Given the description of an element on the screen output the (x, y) to click on. 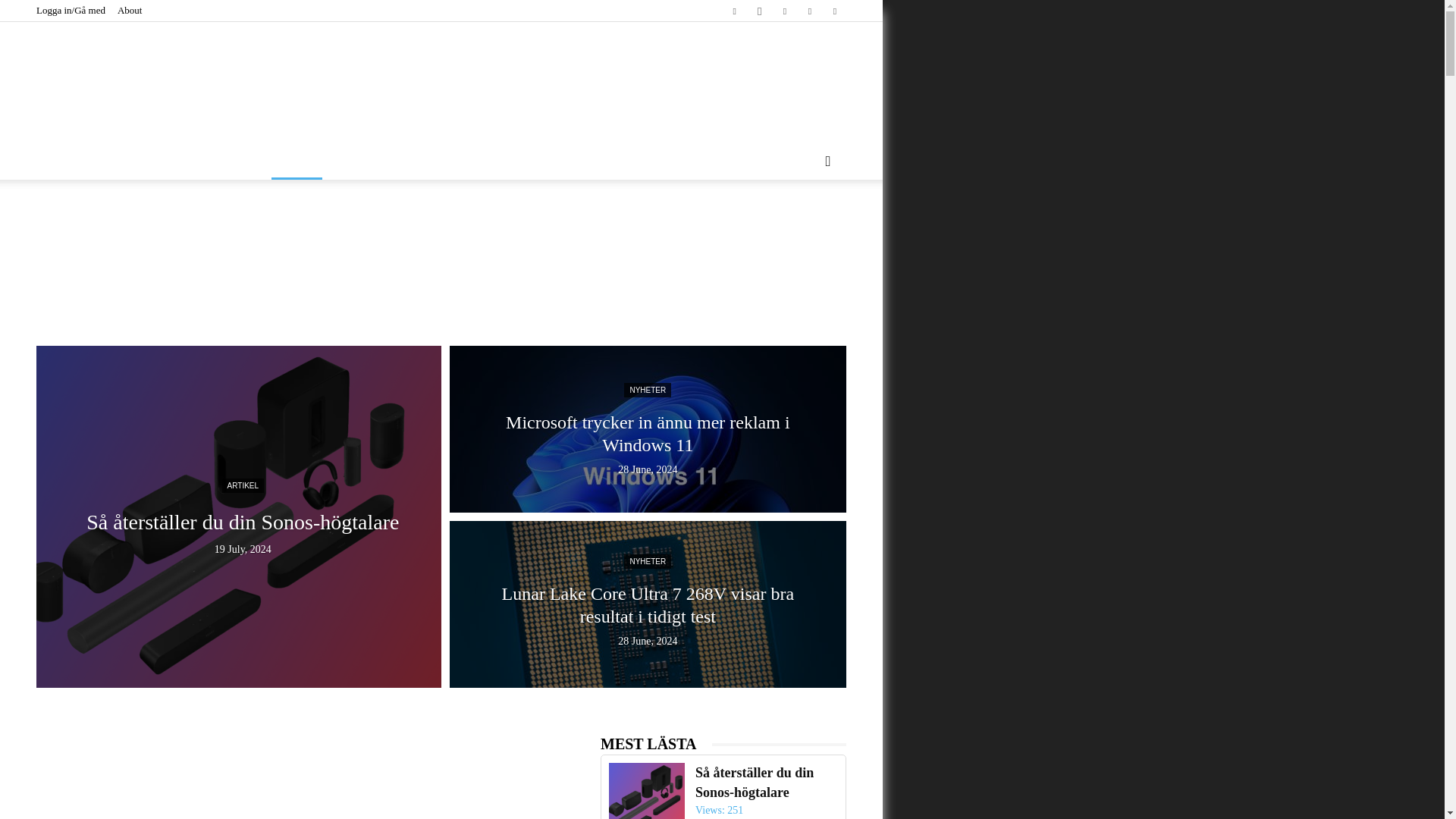
Twitter (809, 10)
About (129, 9)
Youtube (834, 10)
Nyheter och tester av datorer och komponenter (440, 76)
Instagram (759, 10)
Hem (295, 161)
Nyheter (362, 161)
RSS (784, 10)
Facebook (734, 10)
Nordichardware (441, 72)
